Given the description of an element on the screen output the (x, y) to click on. 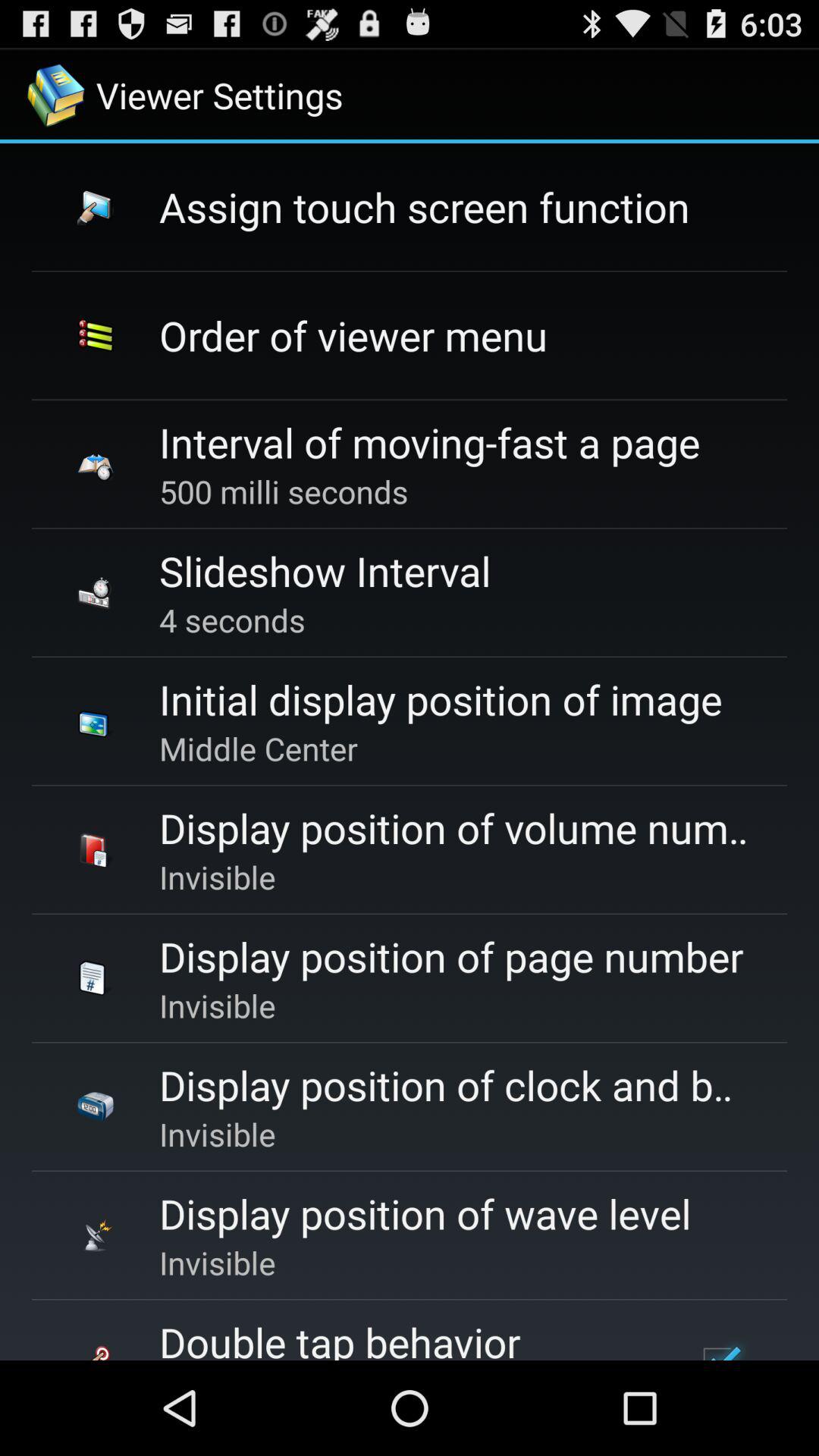
launch the icon above 500 milli seconds app (429, 441)
